Given the description of an element on the screen output the (x, y) to click on. 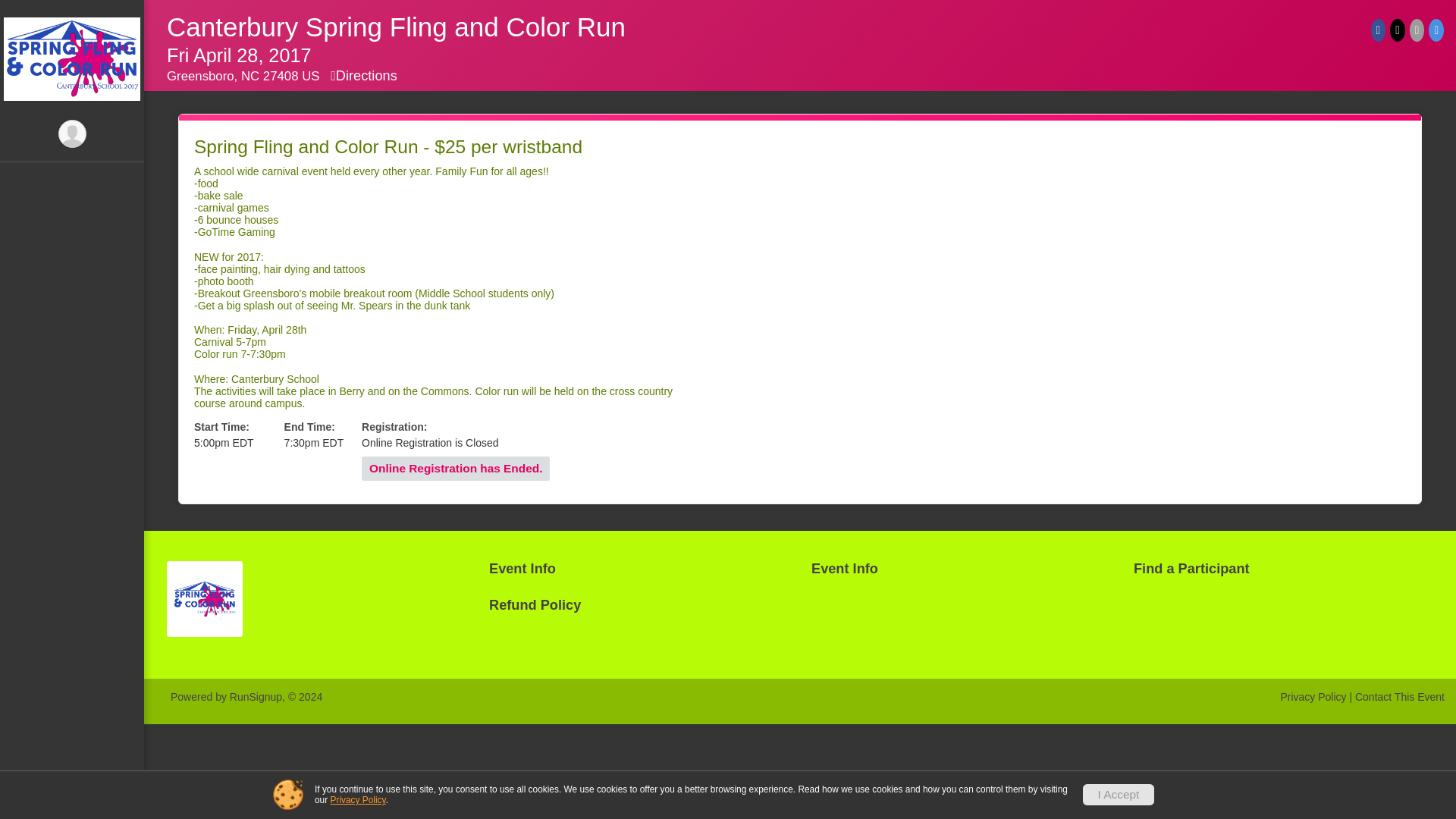
Event Info (639, 569)
Event Info (72, 46)
Find a Participant (72, 77)
Contact This Event (1399, 696)
Find a Participant (1283, 569)
Refund Policy (72, 107)
Directions (363, 75)
Event Info (960, 569)
Canterbury Spring Fling and Color Run (396, 26)
Event Info (72, 15)
